Given the description of an element on the screen output the (x, y) to click on. 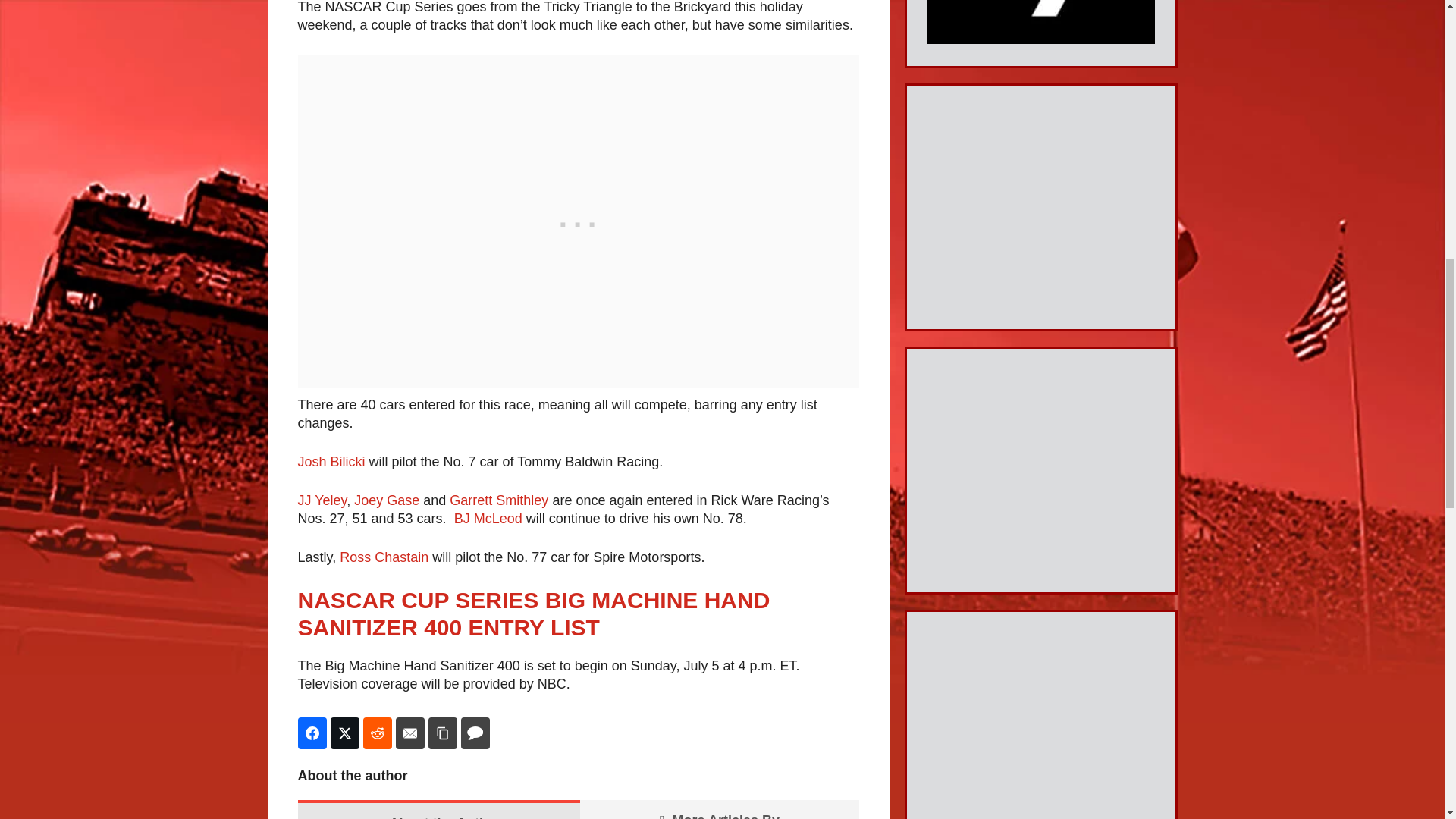
BJ McLeod (488, 518)
Share on Reddit (376, 733)
Share on Email (410, 733)
Share on Copy Link (442, 733)
Josh Bilicki (331, 461)
NASCAR CUP SERIES BIG MACHINE HAND SANITIZER 400 ENTRY LIST (533, 613)
Ross Chastain (383, 557)
Share on Twitter (344, 733)
Joey Gase (386, 500)
Share on Comments (475, 733)
